Given the description of an element on the screen output the (x, y) to click on. 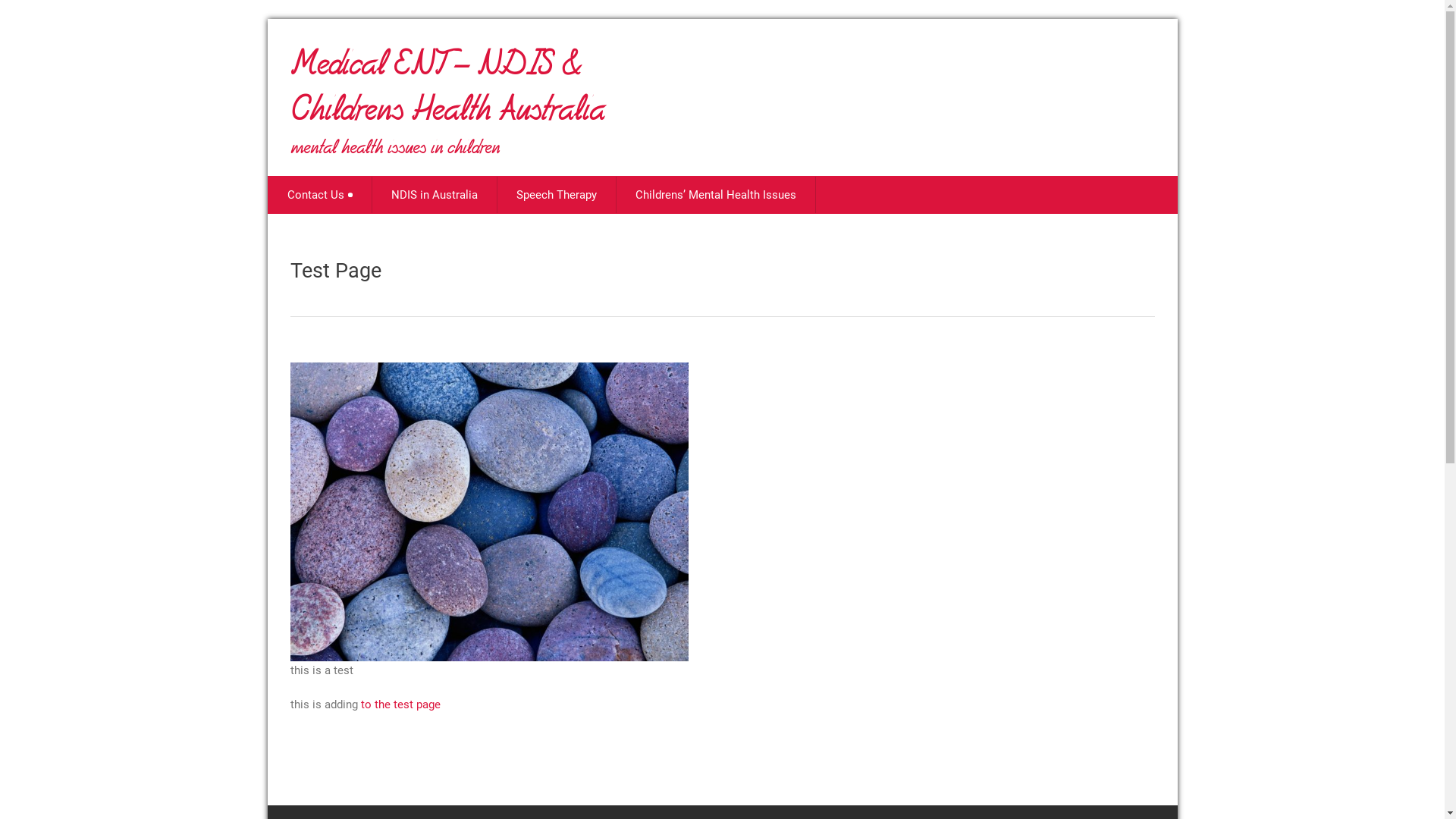
to the test page Element type: text (400, 704)
Speech Therapy Element type: text (556, 194)
Test Page Element type: text (334, 270)
Contact Us Element type: text (320, 194)
NDIS in Australia Element type: text (433, 194)
